Given the description of an element on the screen output the (x, y) to click on. 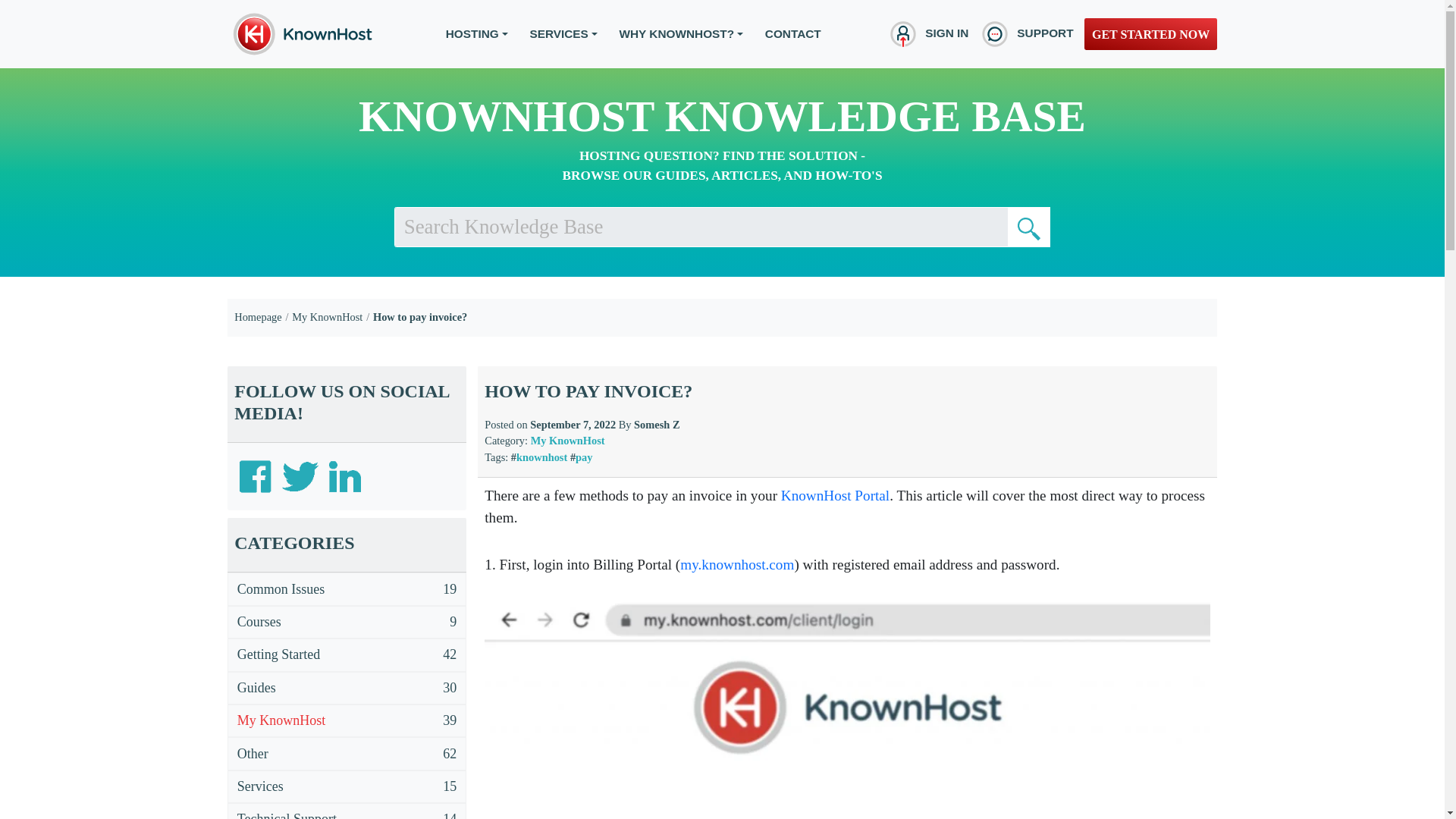
SUPPORT (1024, 33)
WHY KNOWNHOST? (680, 33)
SERVICES (563, 33)
Homepage (257, 316)
GET STARTED NOW (1150, 33)
CONTACT (793, 33)
HOSTING (476, 33)
SIGN IN (926, 33)
1 (1028, 226)
Homepage (257, 316)
How to pay invoice? (419, 316)
